Given the description of an element on the screen output the (x, y) to click on. 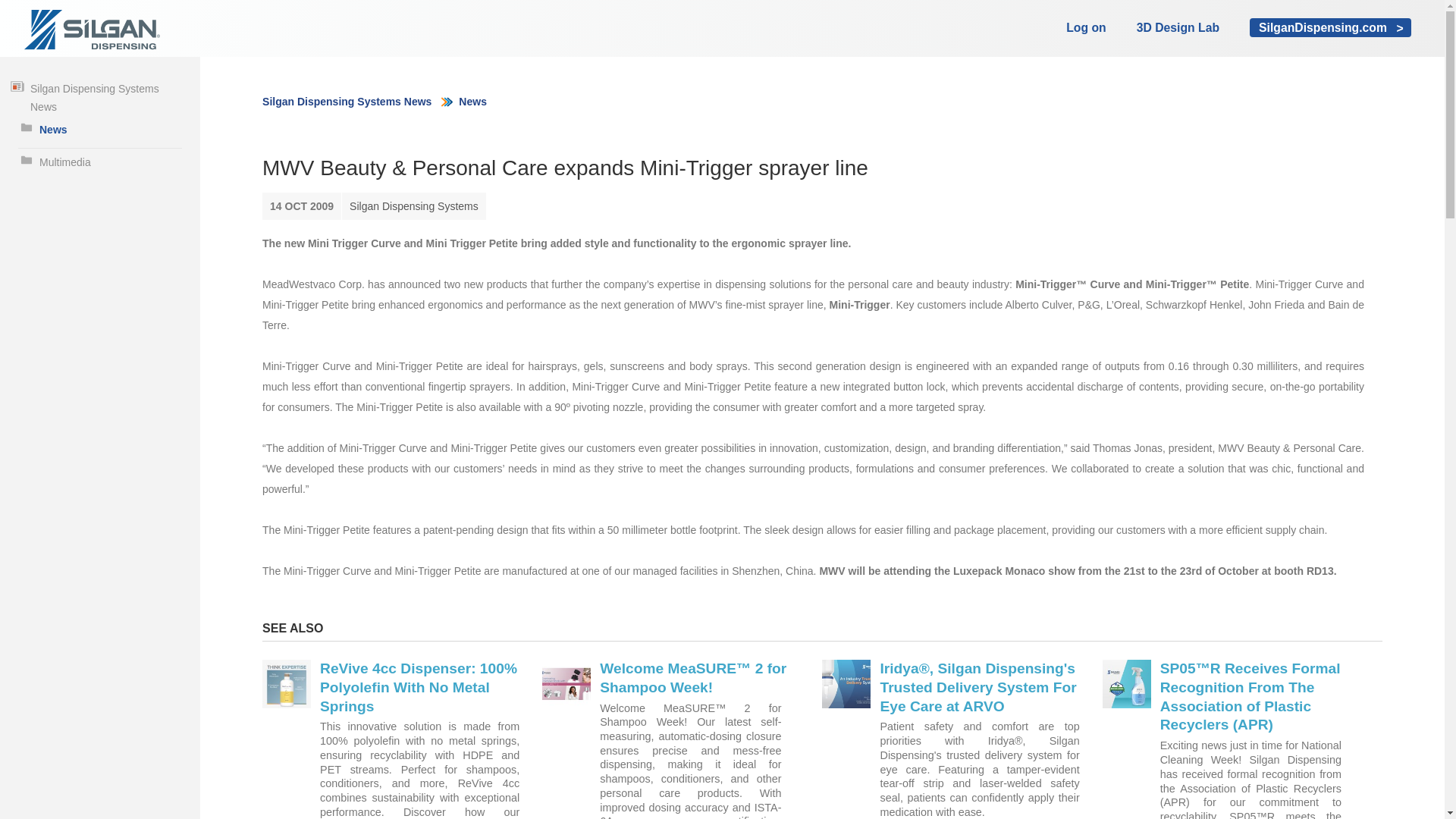
News (472, 101)
SilganDispensing.com (1329, 27)
News (99, 129)
Silgan Dispensing Systems News (346, 101)
3D Design Lab (1178, 27)
Log on (1085, 27)
Silgan Dispensing Systems News (95, 97)
Multimedia (99, 162)
